Given the description of an element on the screen output the (x, y) to click on. 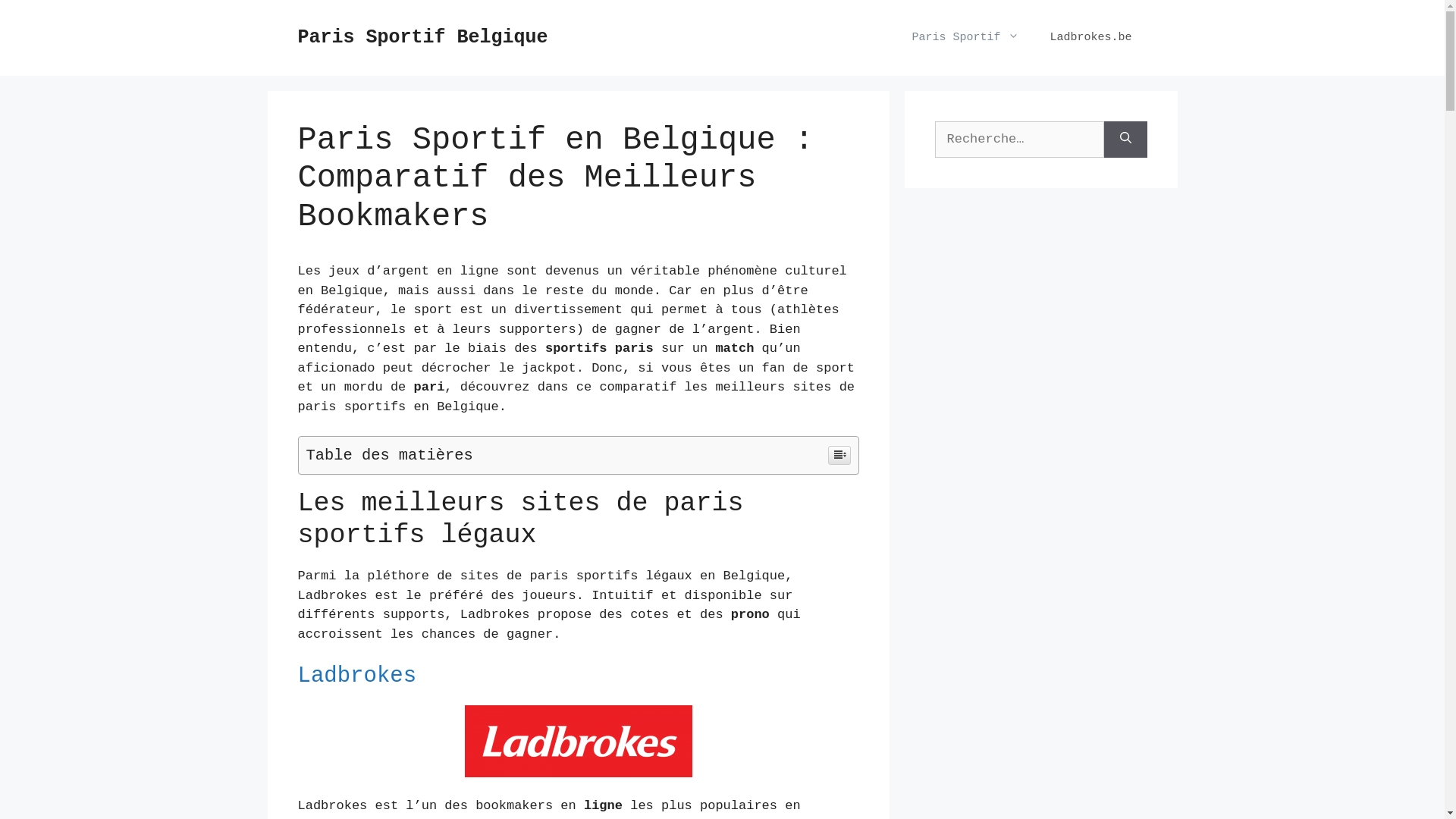
Paris Sportif Element type: text (965, 37)
Paris Sportif Belgique Element type: text (422, 37)
Ladbrokes.be Element type: text (1090, 37)
Ladbrokes Element type: text (356, 675)
